Given the description of an element on the screen output the (x, y) to click on. 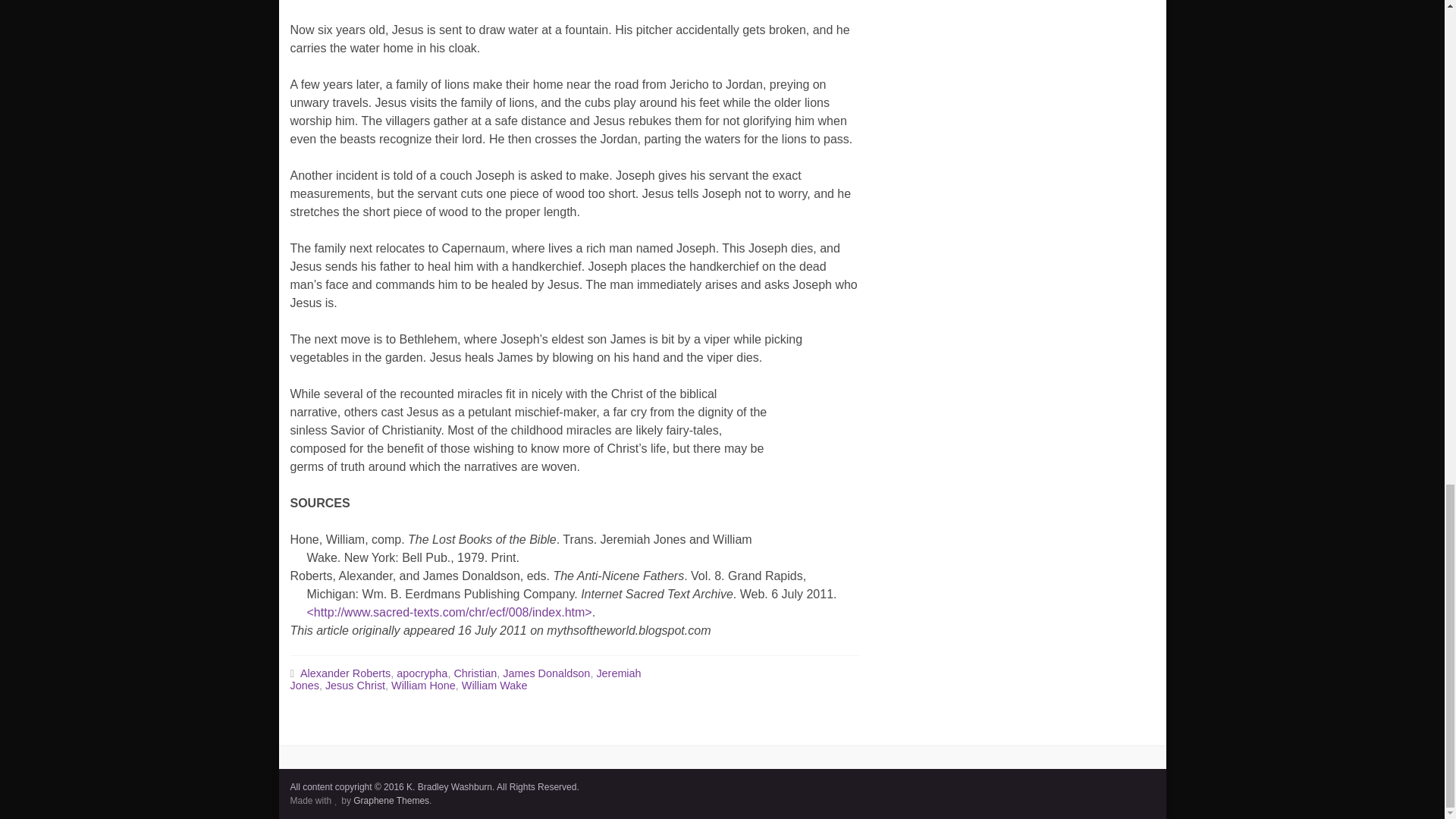
Christian (474, 673)
Alexander Roberts (344, 673)
William Wake (494, 685)
apocrypha (421, 673)
Jesus Christ (354, 685)
James Donaldson (545, 673)
Jeremiah Jones (464, 679)
William Hone (423, 685)
